Given the description of an element on the screen output the (x, y) to click on. 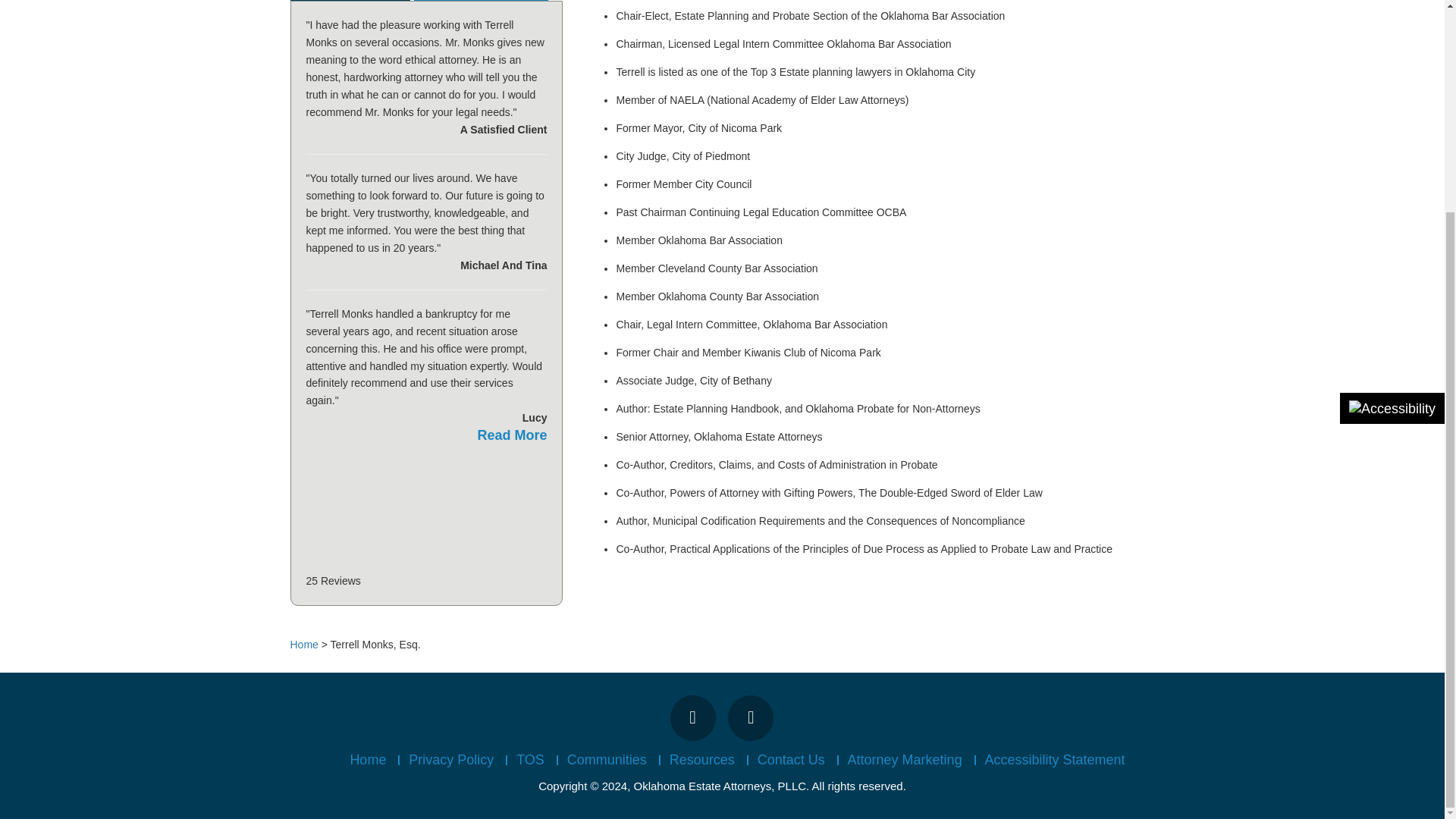
Go to Oklahoma Estate Attorneys, PLLC. (303, 644)
TOS (529, 759)
Communities (606, 759)
Privacy Policy (450, 759)
Home (367, 759)
Home (303, 644)
Read More (512, 435)
